Given the description of an element on the screen output the (x, y) to click on. 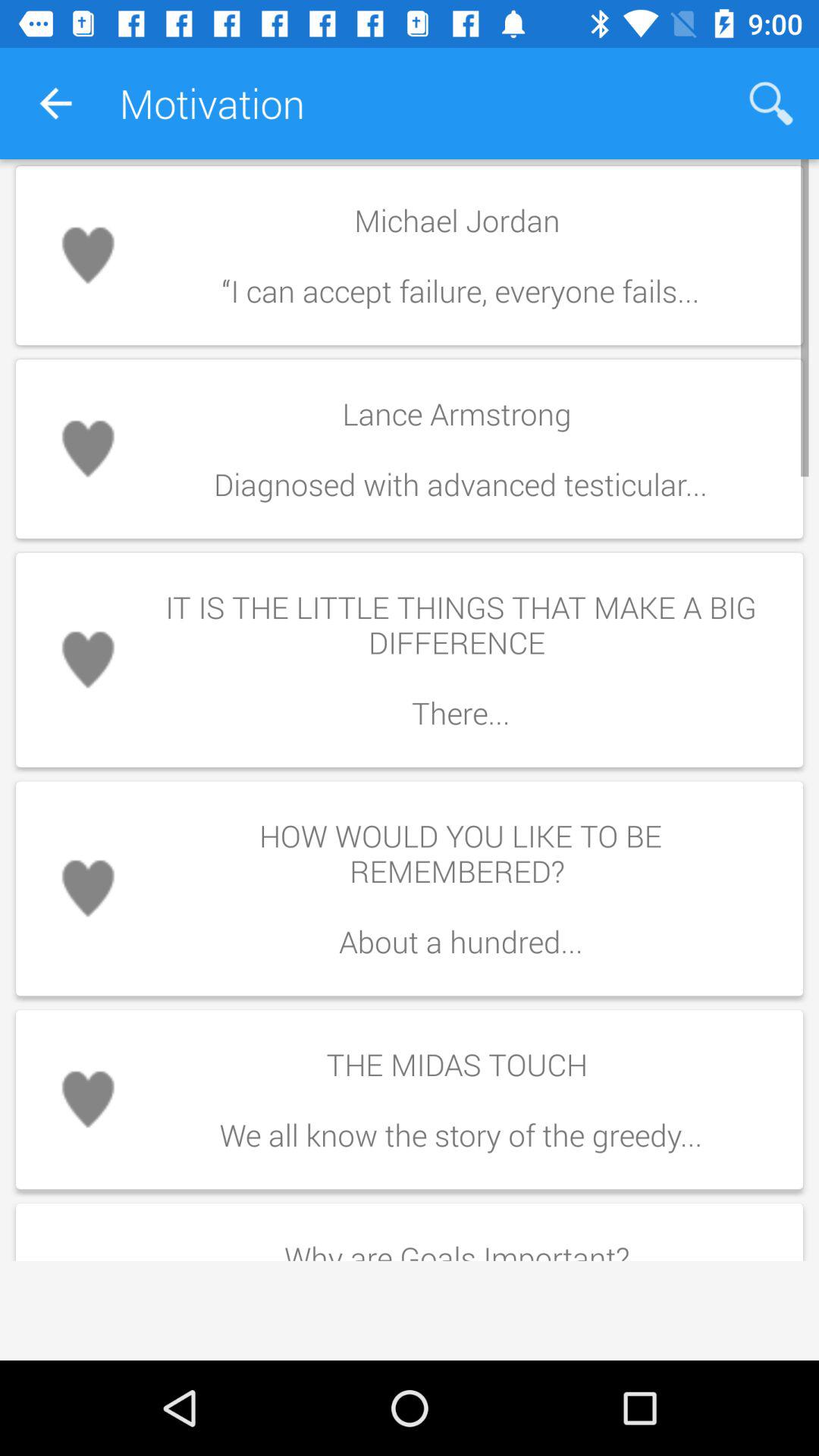
select the third text below motivation (409, 659)
select first heart symbol from top (87, 255)
select the first text in motivation (409, 255)
select the fourth love symbol from top left of page (87, 888)
click on search icon (771, 103)
